Given the description of an element on the screen output the (x, y) to click on. 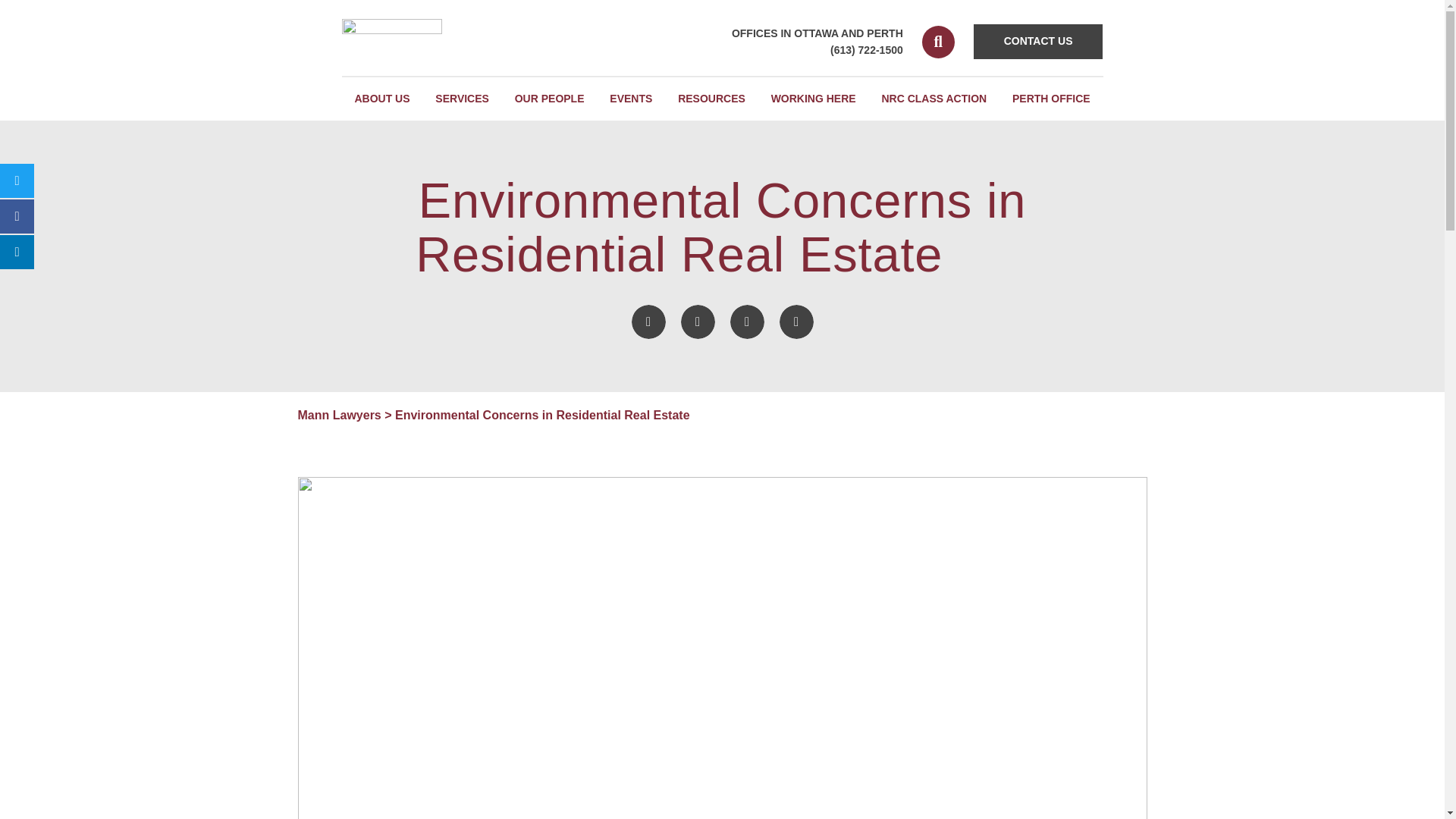
PERTH (884, 33)
CONTACT US (1038, 41)
